Given the description of an element on the screen output the (x, y) to click on. 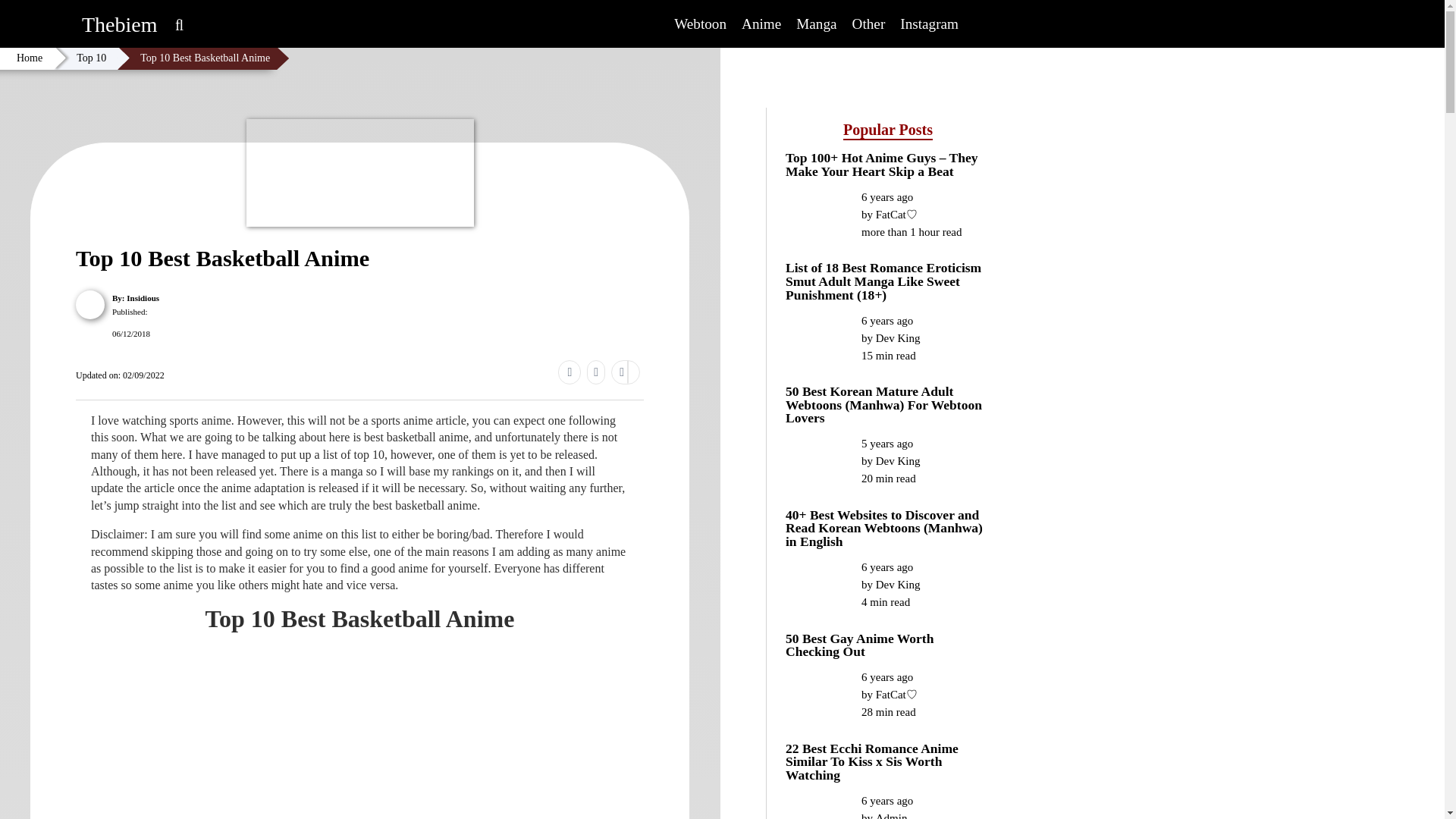
Top 10 Best Basketball Anime (204, 58)
Webtoon (699, 23)
Home (29, 57)
Anime (761, 23)
Thebiem (119, 13)
Posts by Insidious (142, 297)
Manga (816, 23)
Instagram (929, 23)
Other (868, 23)
